Given the description of an element on the screen output the (x, y) to click on. 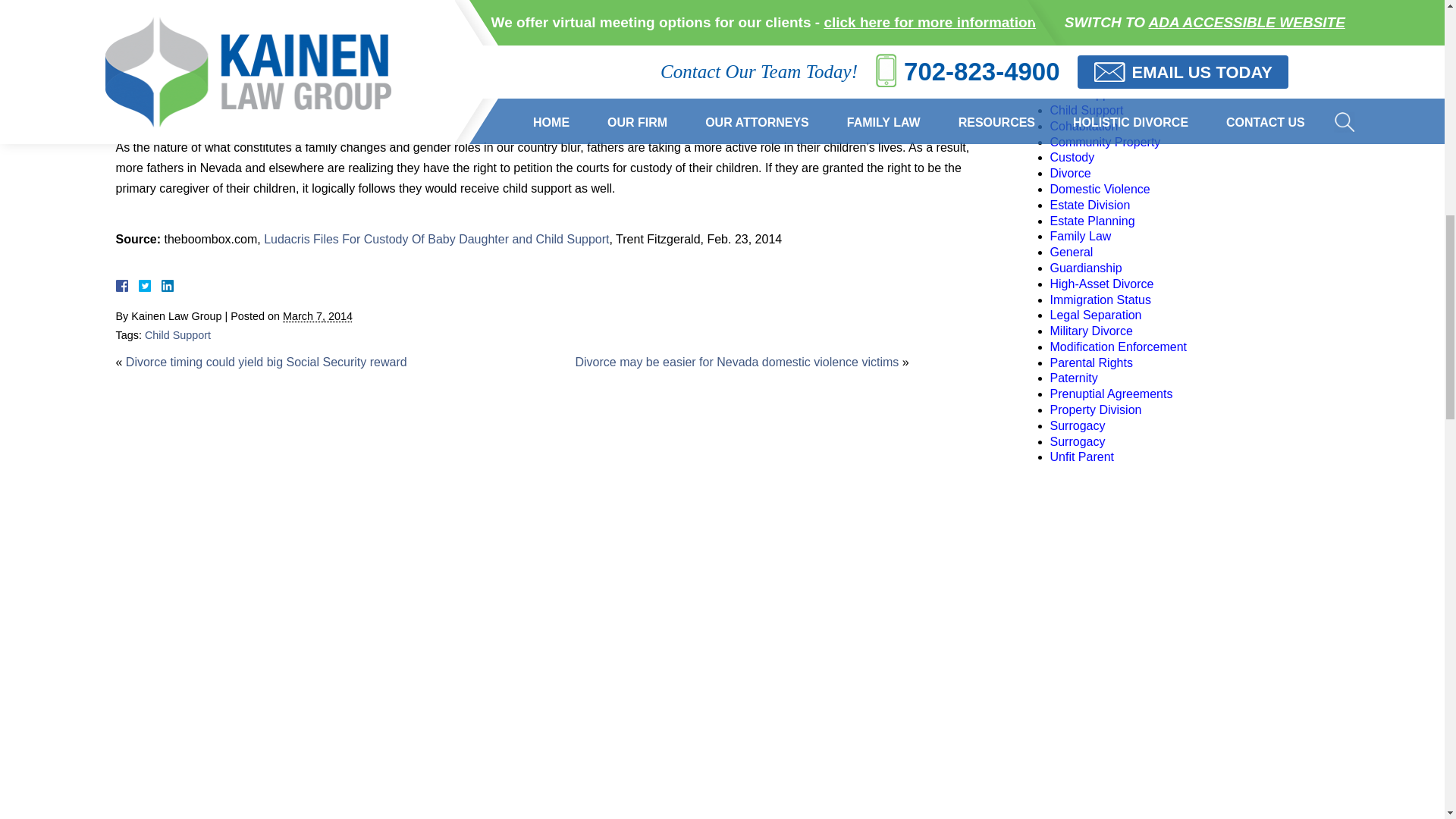
LinkedIn (160, 285)
Facebook (139, 285)
2014-03-07T13:41:49-0800 (317, 316)
Twitter (149, 285)
